Given the description of an element on the screen output the (x, y) to click on. 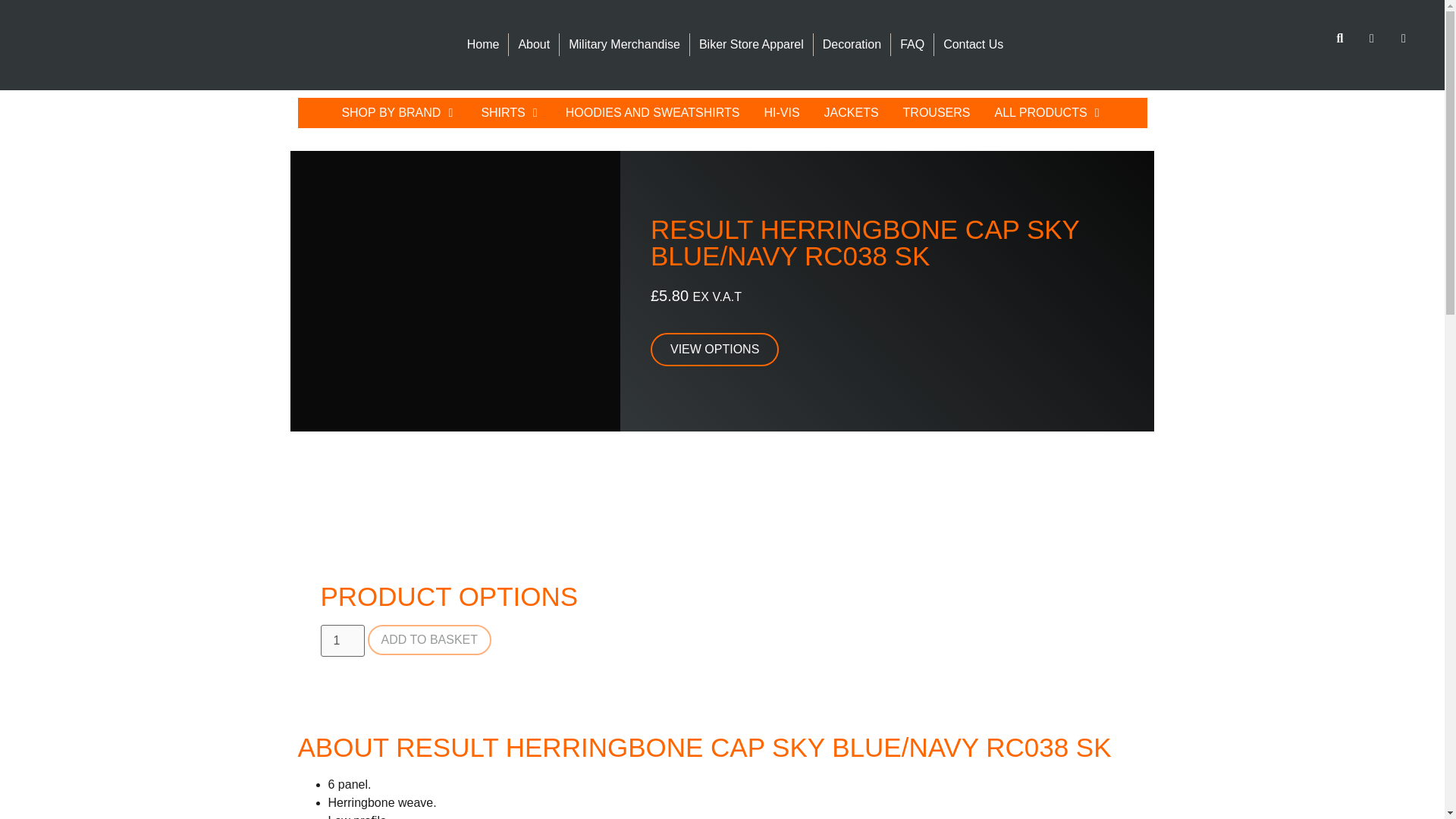
About (533, 44)
Contact Us (972, 44)
1 (342, 640)
Biker Store Apparel (751, 44)
FAQ (912, 44)
Home (483, 44)
Military Merchandise (623, 44)
Decoration (851, 44)
